Given the description of an element on the screen output the (x, y) to click on. 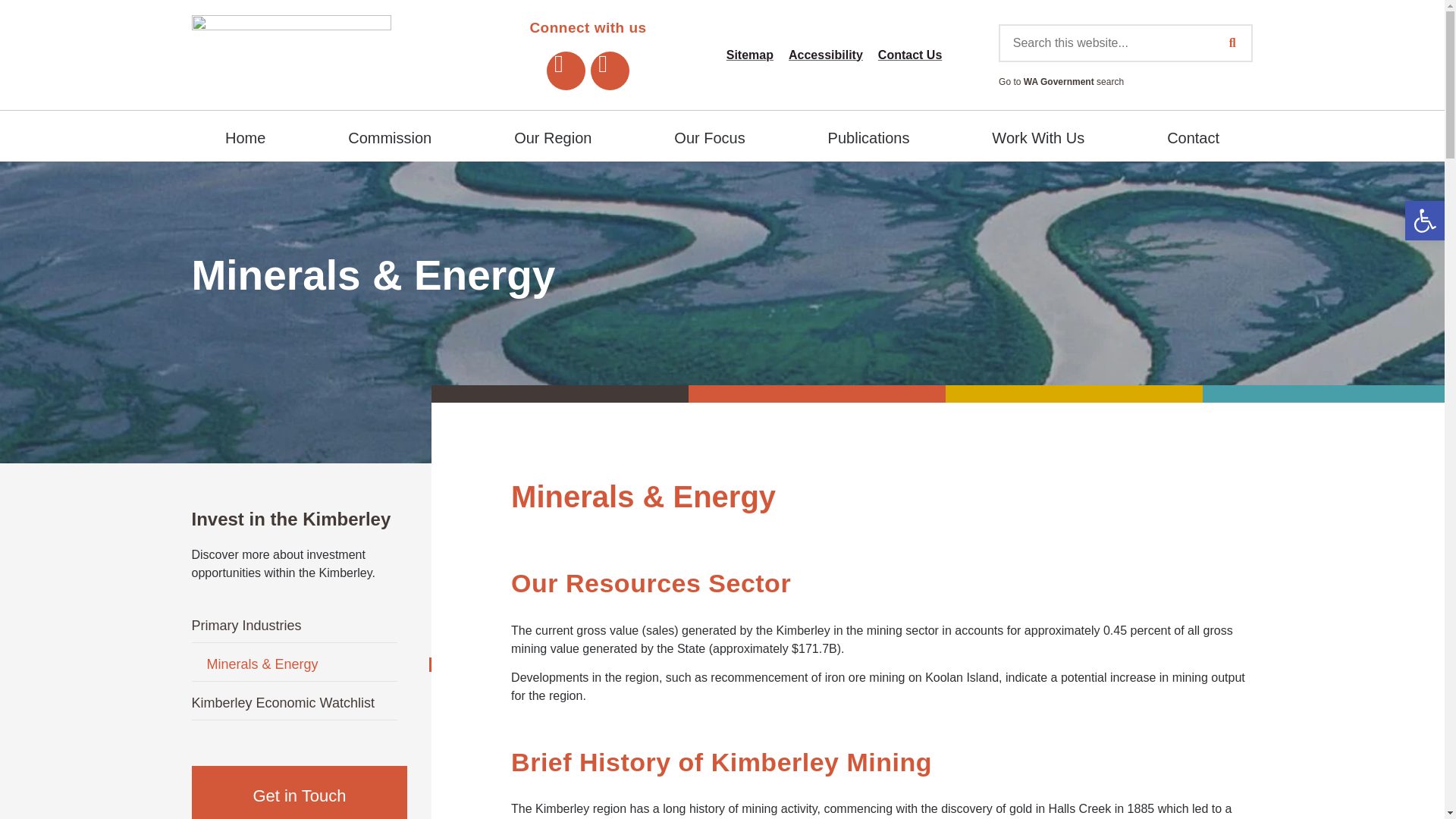
Accessibility Tools (1424, 220)
